Given the description of an element on the screen output the (x, y) to click on. 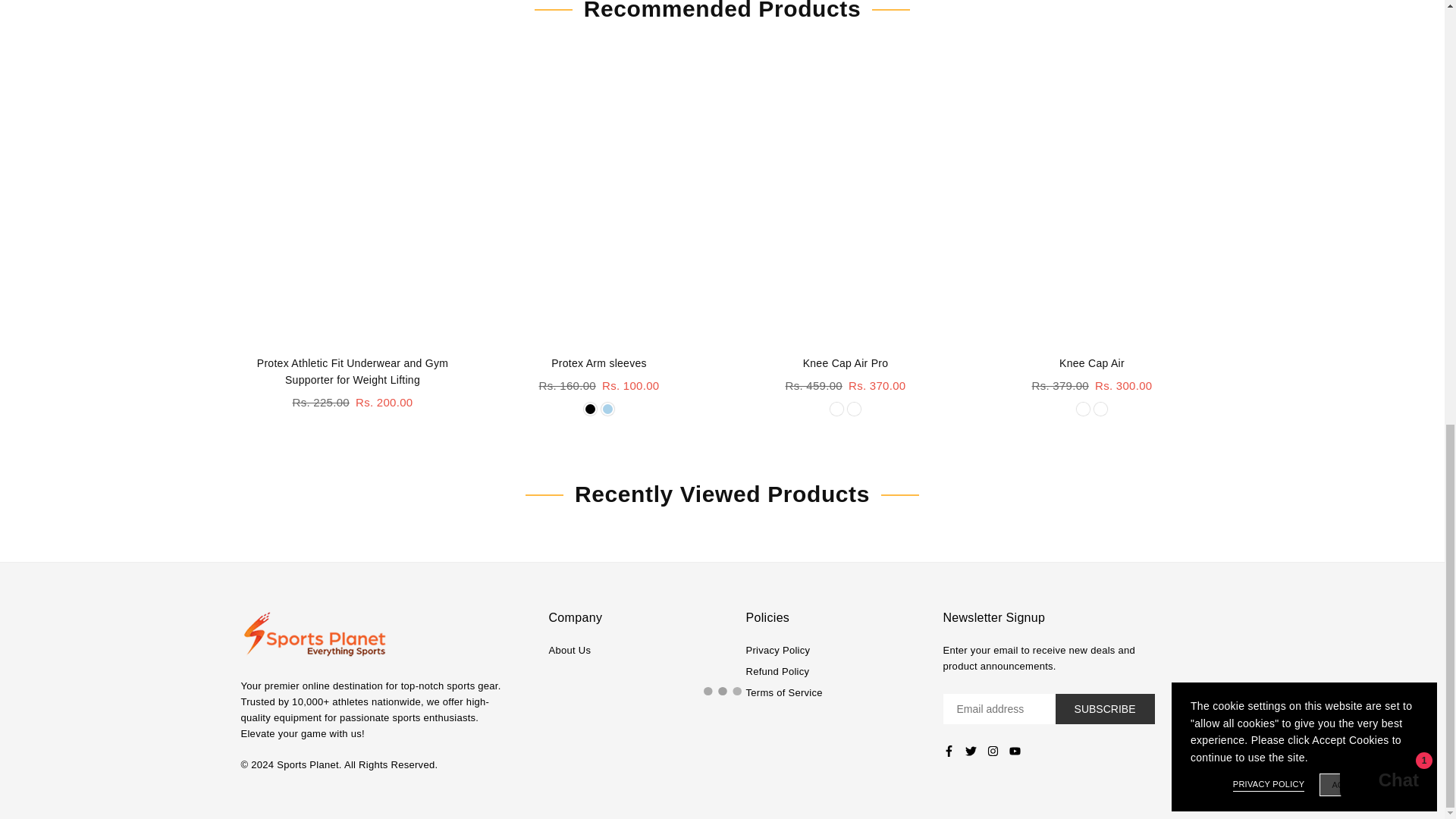
Blue (607, 408)
SUBSCRIBE (1104, 708)
Black (589, 408)
